Given the description of an element on the screen output the (x, y) to click on. 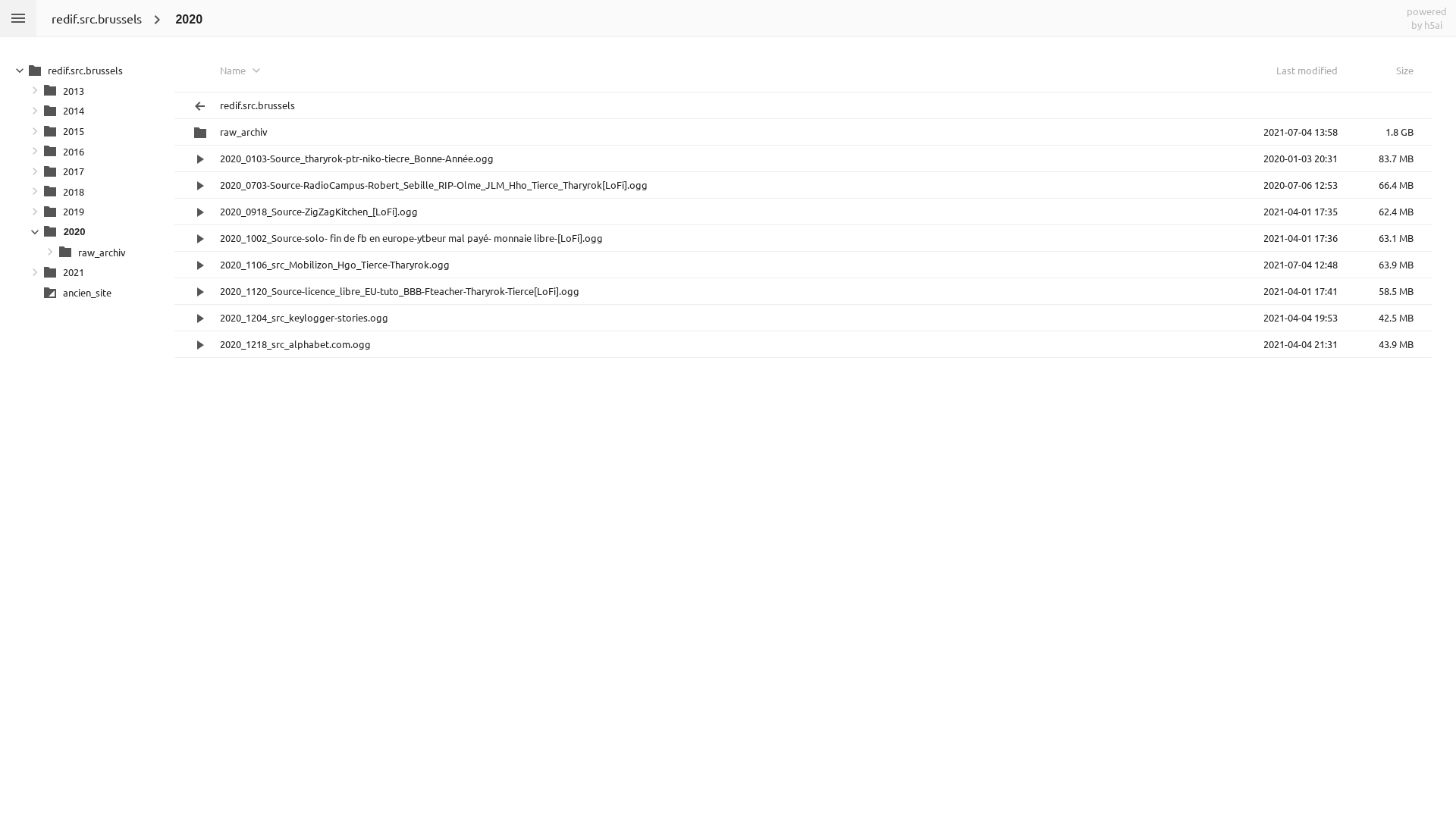
Last modified Element type: text (1288, 76)
redif.src.brussels Element type: text (802, 105)
raw_archiv Element type: text (91, 253)
ancien_site Element type: text (83, 293)
2020 Element type: text (83, 232)
Size Element type: text (1382, 76)
2014 Element type: text (83, 111)
2020_1218_src_alphabet.com.ogg
2021-04-04 21:31
43.9 MB Element type: text (802, 344)
2016 Element type: text (83, 152)
2013 Element type: text (83, 91)
2015 Element type: text (83, 132)
raw_archiv
2021-07-04 13:58
1.8 GB Element type: text (802, 131)
redif.src.brussels Element type: text (94, 18)
2018 Element type: text (83, 192)
2019 Element type: text (83, 212)
2020 Element type: text (177, 19)
2017 Element type: text (83, 172)
2020_1204_src_keylogger-stories.ogg
2021-04-04 19:53
42.5 MB Element type: text (802, 317)
redif.src.brussels Element type: text (76, 71)
2021 Element type: text (83, 273)
Name Element type: text (729, 76)
